Given the description of an element on the screen output the (x, y) to click on. 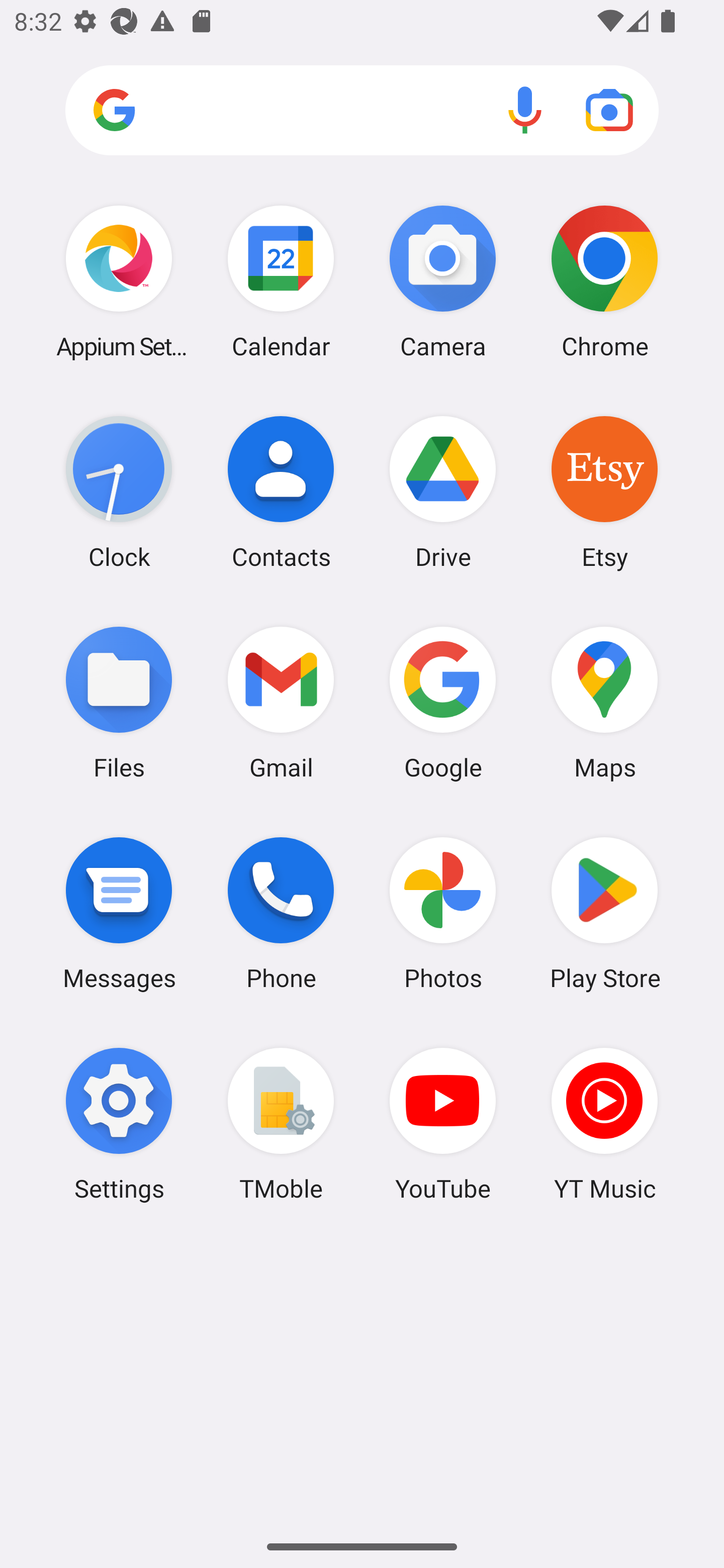
Search apps, web and more (361, 110)
Voice search (524, 109)
Google Lens (608, 109)
Appium Settings (118, 281)
Calendar (280, 281)
Camera (443, 281)
Chrome (604, 281)
Clock (118, 492)
Contacts (280, 492)
Drive (443, 492)
Etsy (604, 492)
Files (118, 702)
Gmail (280, 702)
Google (443, 702)
Maps (604, 702)
Messages (118, 913)
Phone (280, 913)
Photos (443, 913)
Play Store (604, 913)
Settings (118, 1124)
TMoble (280, 1124)
YouTube (443, 1124)
YT Music (604, 1124)
